Given the description of an element on the screen output the (x, y) to click on. 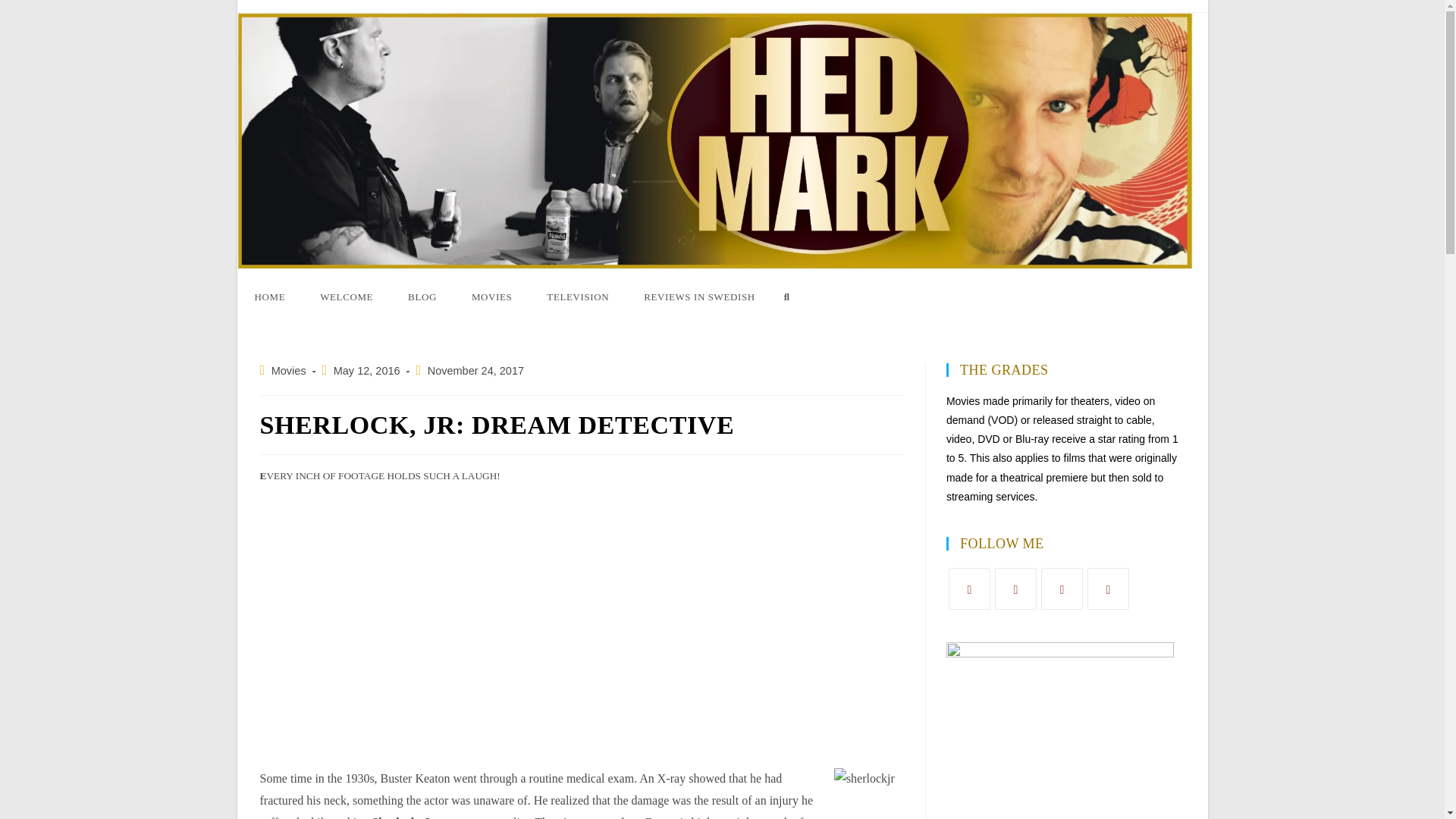
REVIEWS IN SWEDISH (699, 297)
BLOG (422, 297)
MOVIES (491, 297)
WELCOME (346, 297)
TELEVISION (577, 297)
HOME (268, 297)
